Given the description of an element on the screen output the (x, y) to click on. 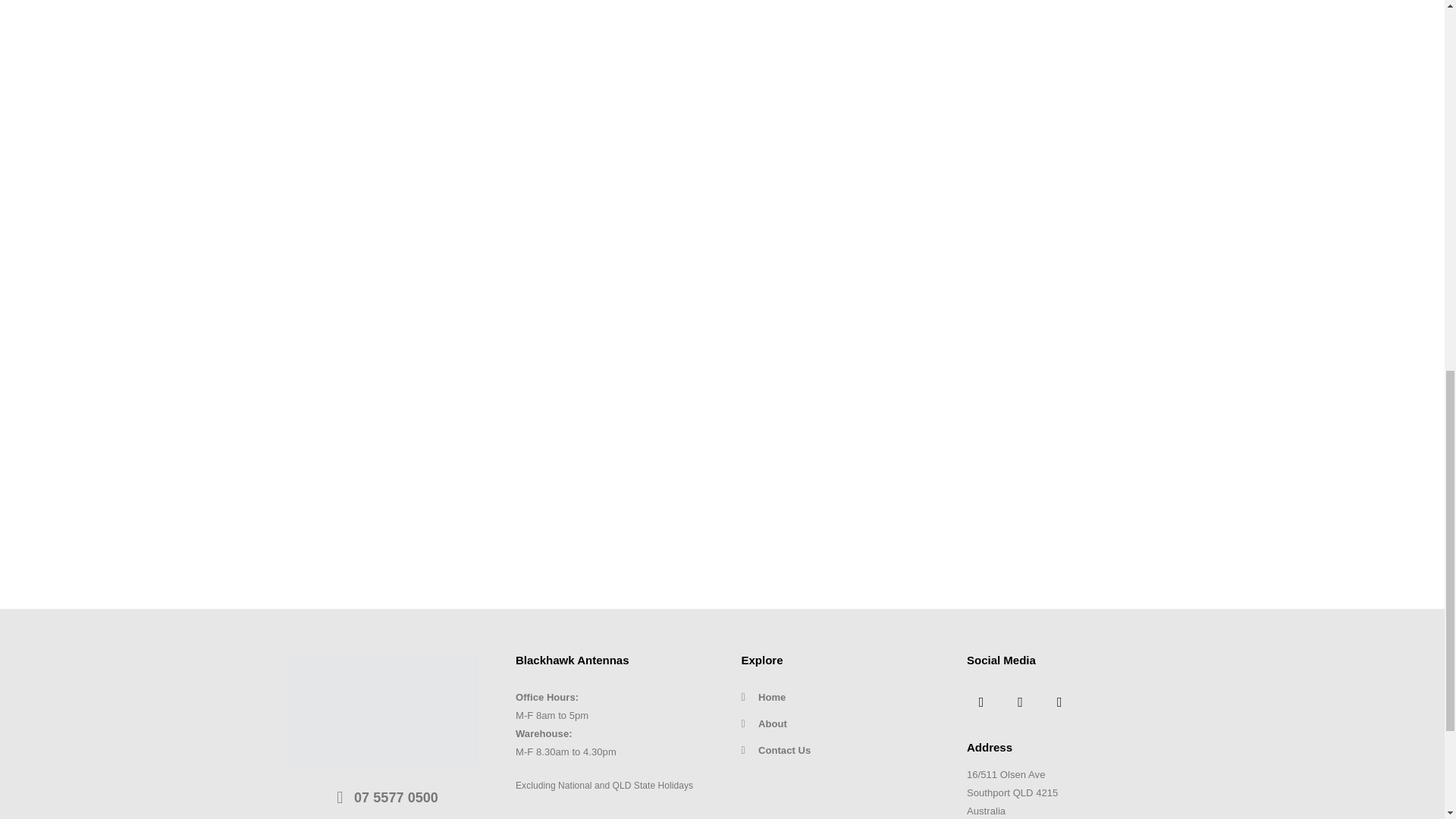
Instagram (1059, 701)
Facebook (980, 701)
Home (835, 697)
Twitter (1020, 701)
